Given the description of an element on the screen output the (x, y) to click on. 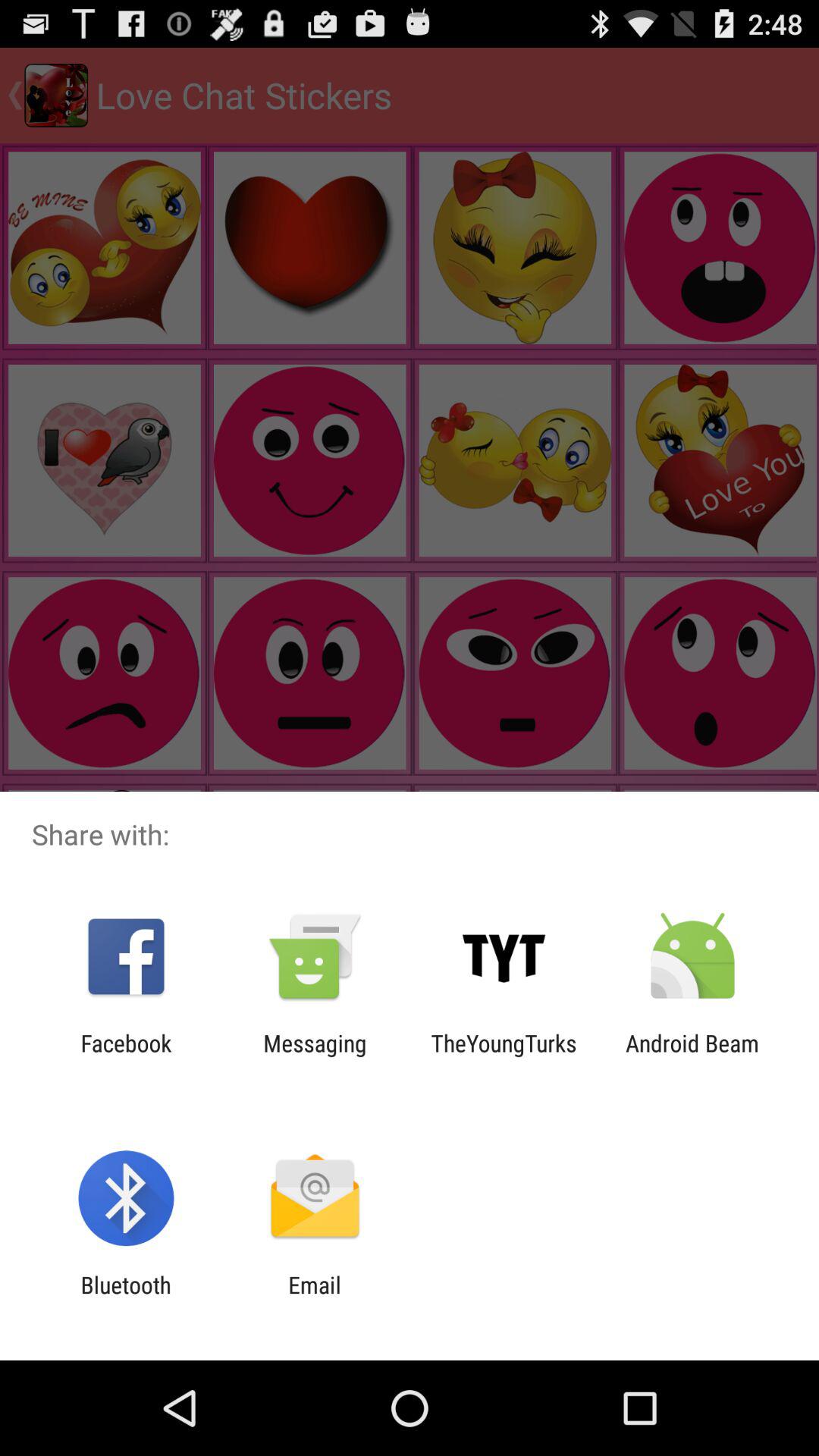
swipe to bluetooth (125, 1298)
